Given the description of an element on the screen output the (x, y) to click on. 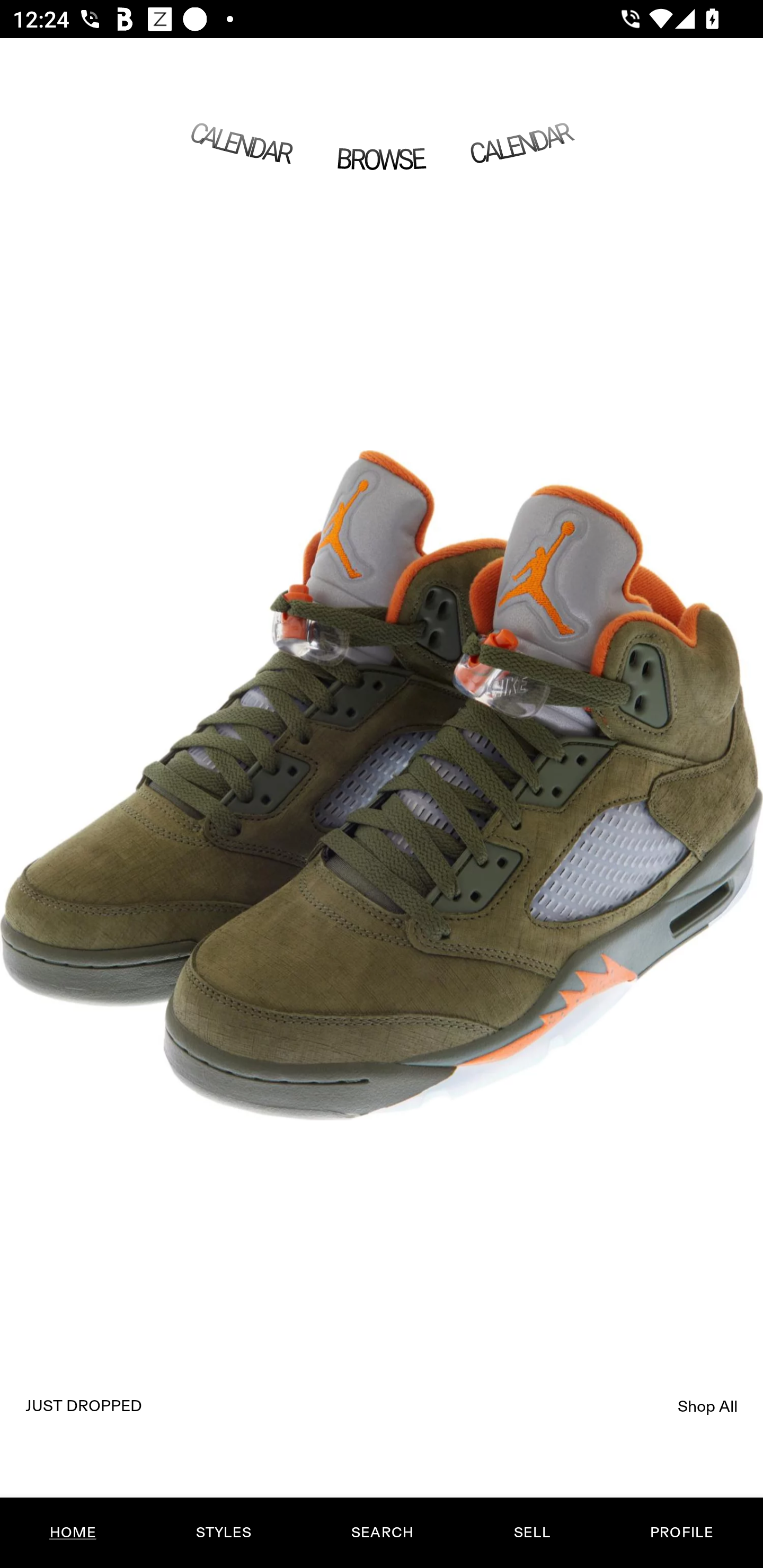
Shop All (707, 1406)
HOME (72, 1532)
STYLES (222, 1532)
SEARCH (381, 1532)
SELL (531, 1532)
PROFILE (681, 1532)
